Given the description of an element on the screen output the (x, y) to click on. 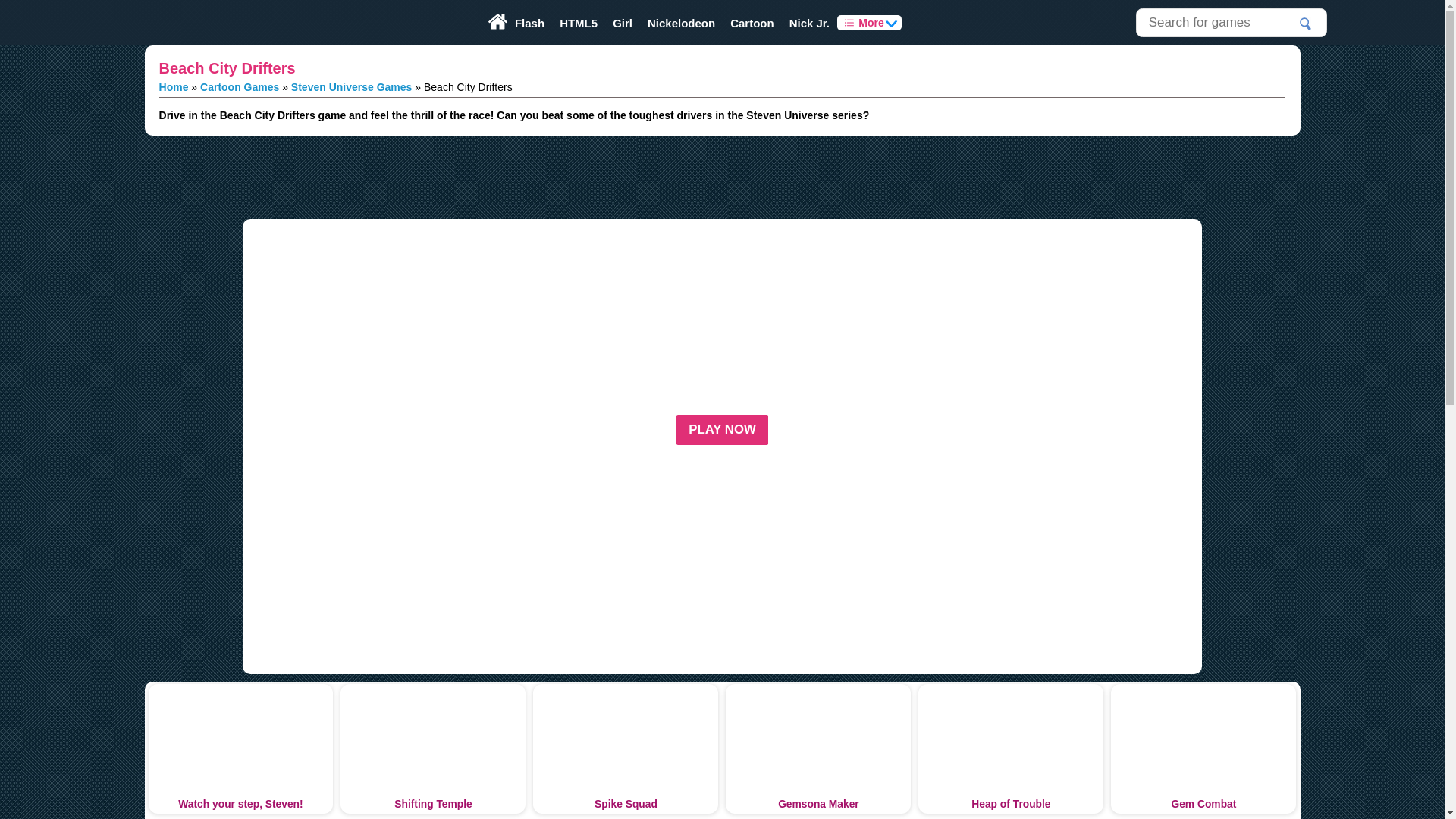
Flash Games (528, 22)
HTML5 Games (578, 22)
Play Fun Browser Games (185, 22)
Flash (528, 22)
More (869, 22)
Girl (622, 22)
Nick Jr. (809, 22)
HTML5 (578, 22)
Cartoon Games (239, 87)
Nickelodeon Games (681, 22)
Nickelodeon (681, 22)
Home (173, 87)
Cartoon Games (751, 22)
Nick Jr. Games (809, 22)
